Given the description of an element on the screen output the (x, y) to click on. 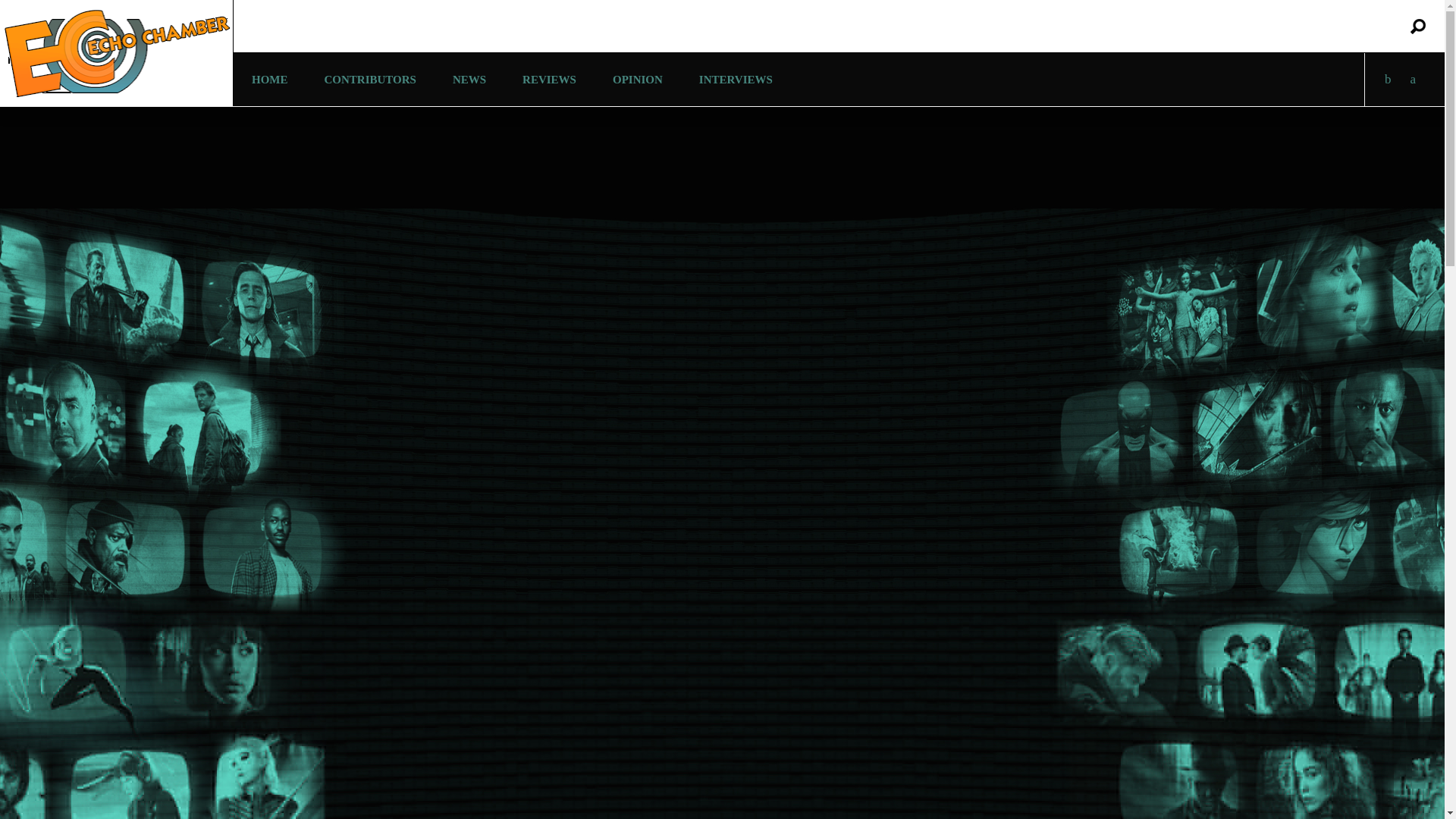
CONTRIBUTORS (369, 79)
Home (268, 79)
REVIEWS (548, 79)
OPINION (637, 79)
HOME (268, 79)
CONTRIBUTORS (369, 79)
REVIEWS (548, 79)
NEWS (468, 79)
Opinion (637, 79)
Interviews (735, 79)
